Given the description of an element on the screen output the (x, y) to click on. 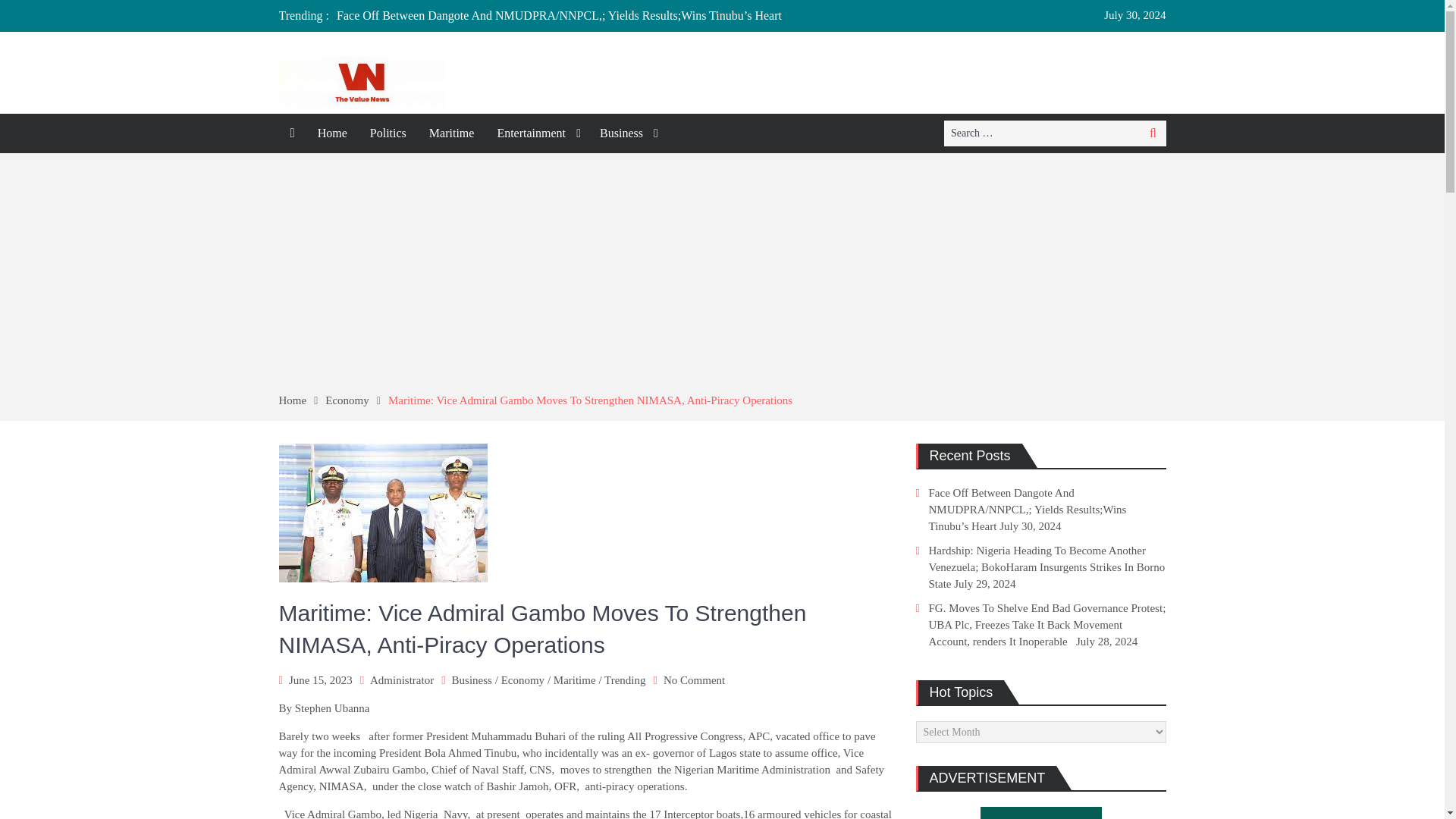
June 15, 2023 (320, 680)
Trending (624, 680)
Business (471, 680)
Search (1153, 133)
Politics (387, 133)
Home (331, 133)
Maritime (574, 680)
Administrator (401, 680)
Economy (522, 680)
Entertainment (536, 133)
Economy (356, 399)
Home (302, 399)
Business (626, 133)
Maritime (451, 133)
